Given the description of an element on the screen output the (x, y) to click on. 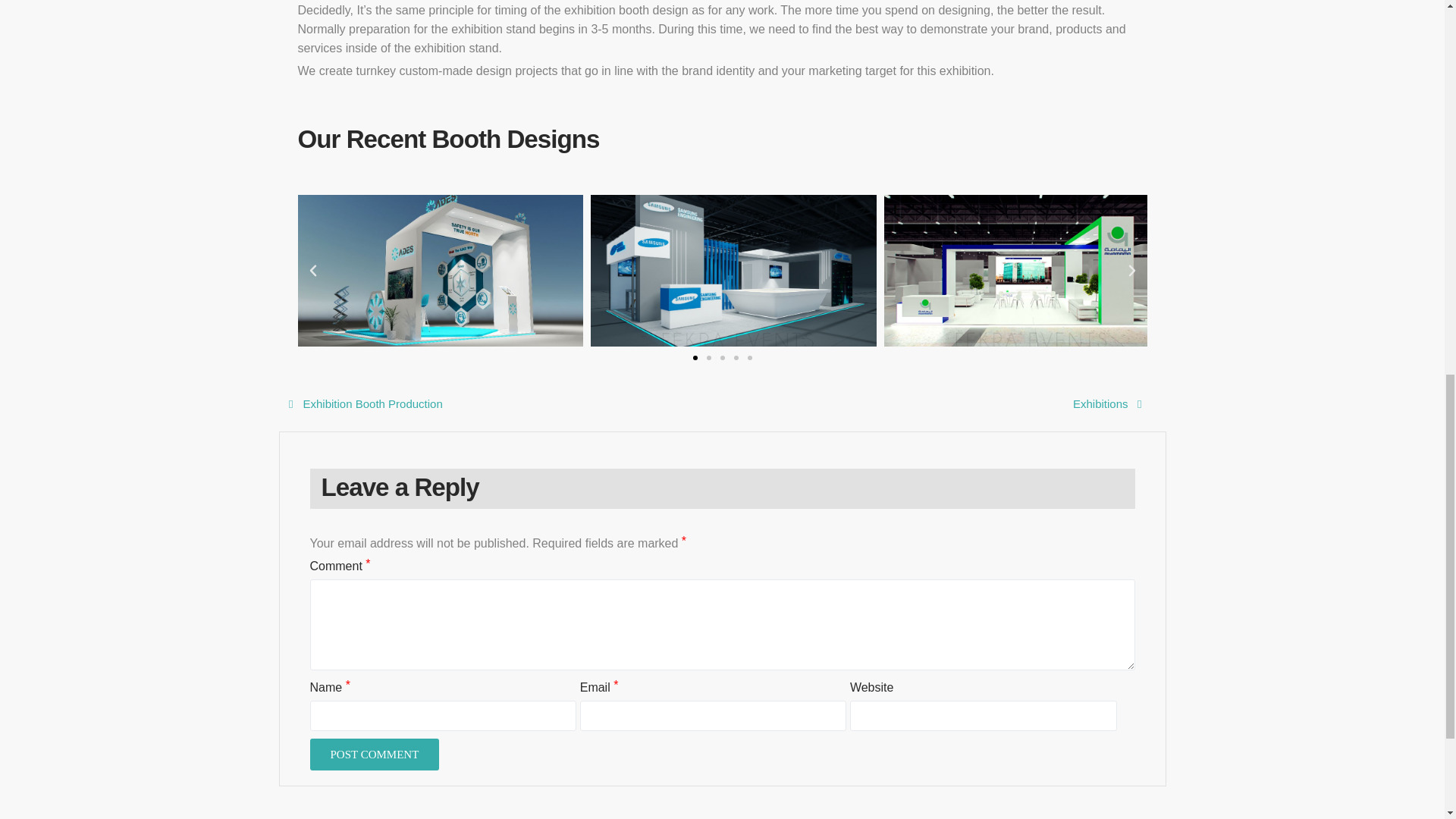
Exhibitions (1107, 403)
Post Comment (373, 754)
Exhibition Booth Production (360, 403)
Post Comment (373, 754)
